Given the description of an element on the screen output the (x, y) to click on. 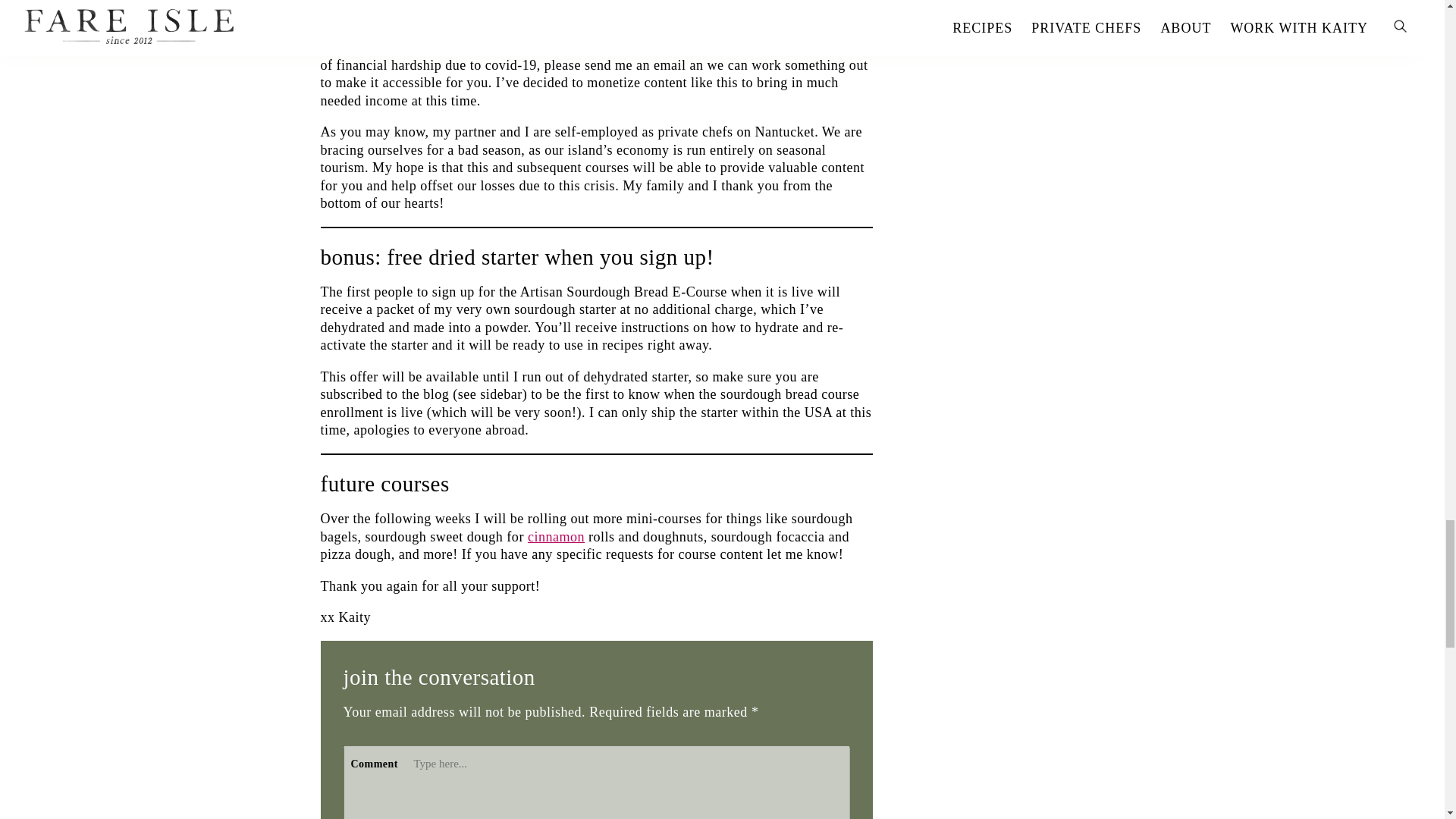
cinnamon (556, 536)
